Given the description of an element on the screen output the (x, y) to click on. 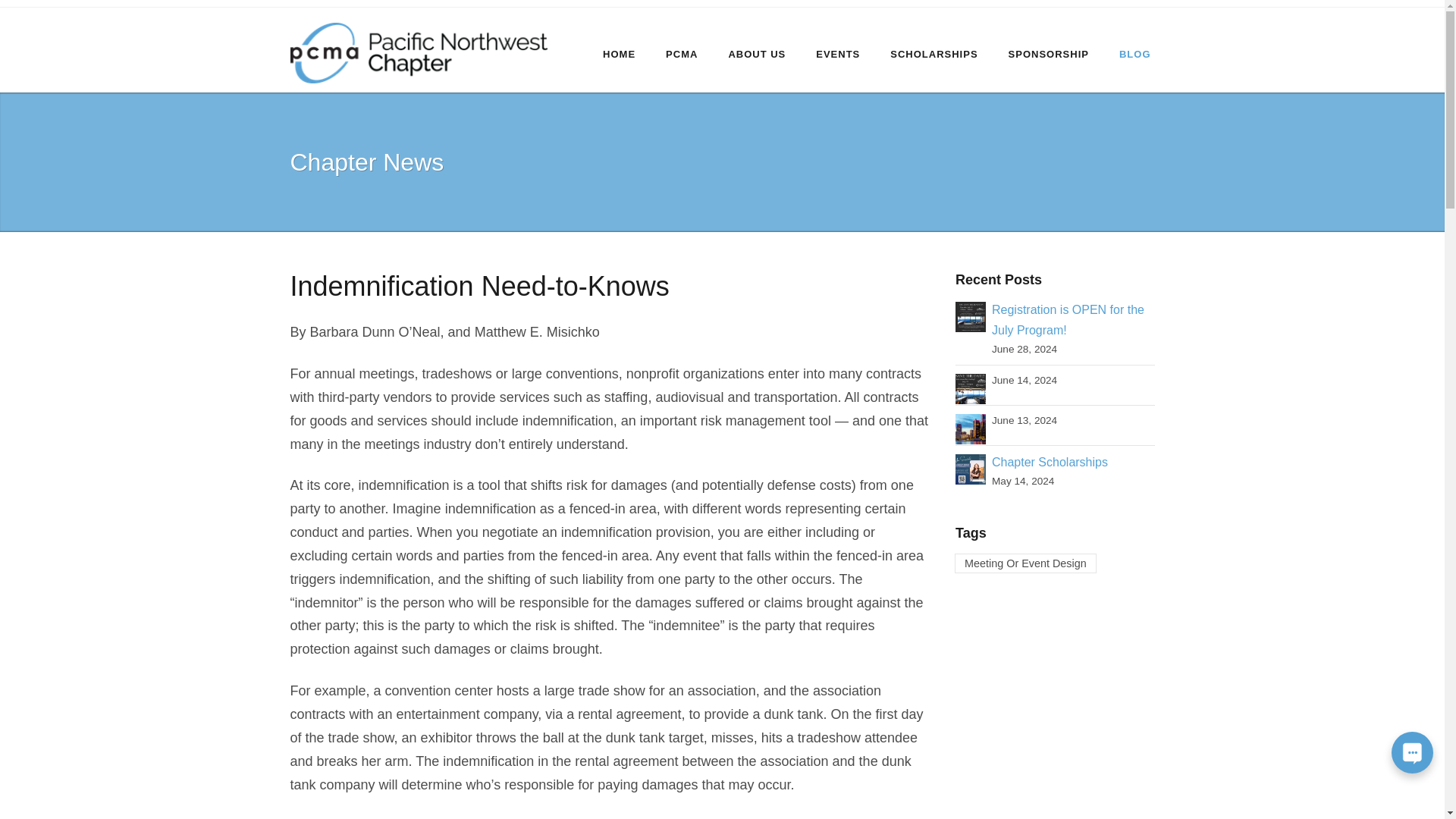
SPONSORSHIP (1047, 49)
Registration is OPEN for the July Program! (970, 315)
Chapter Scholarships (970, 468)
Meeting Or Event Design (1025, 563)
Chapter Scholarships (1049, 461)
Chapter Scholarships (1049, 461)
ABOUT US (756, 49)
Registration is OPEN for the July Program! (1067, 319)
Registration is OPEN for the July Program! (1067, 319)
SCHOLARSHIPS (933, 49)
